Given the description of an element on the screen output the (x, y) to click on. 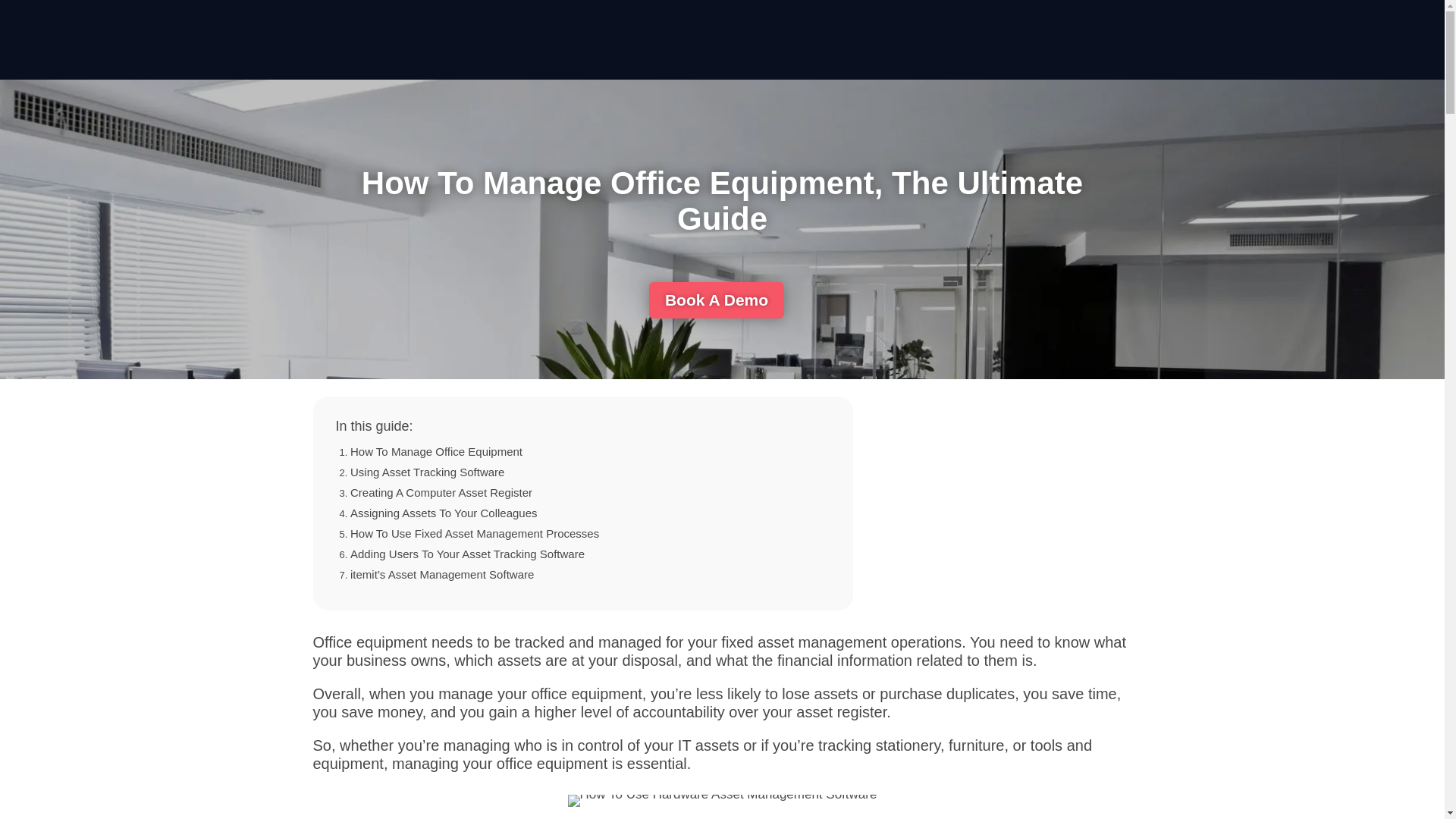
Featured - How To Use Hardware Asset Management Software (722, 800)
How To Use Fixed Asset Management Processes (474, 533)
Adding Users To Your Asset Tracking Software (467, 553)
Using Asset Tracking Software (426, 472)
How To Manage Office Equipment (436, 451)
Creating A Computer Asset Register (441, 492)
Book A Demo (716, 299)
Assigning Assets To Your Colleagues (443, 512)
